Given the description of an element on the screen output the (x, y) to click on. 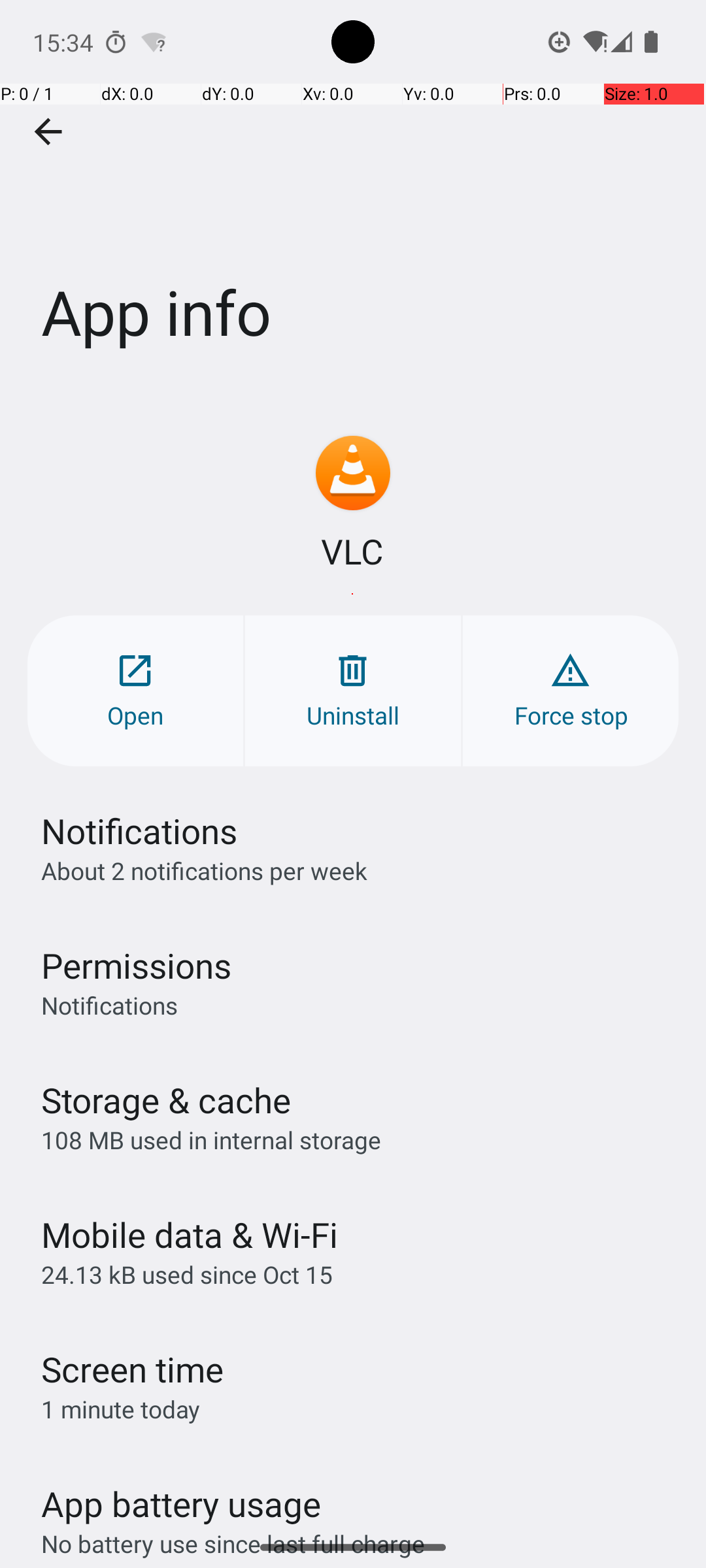
About 2 notifications per week Element type: android.widget.TextView (204, 870)
108 MB used in internal storage Element type: android.widget.TextView (211, 1139)
24.13 kB used since Oct 15 Element type: android.widget.TextView (186, 1273)
1 minute today Element type: android.widget.TextView (120, 1408)
